Given the description of an element on the screen output the (x, y) to click on. 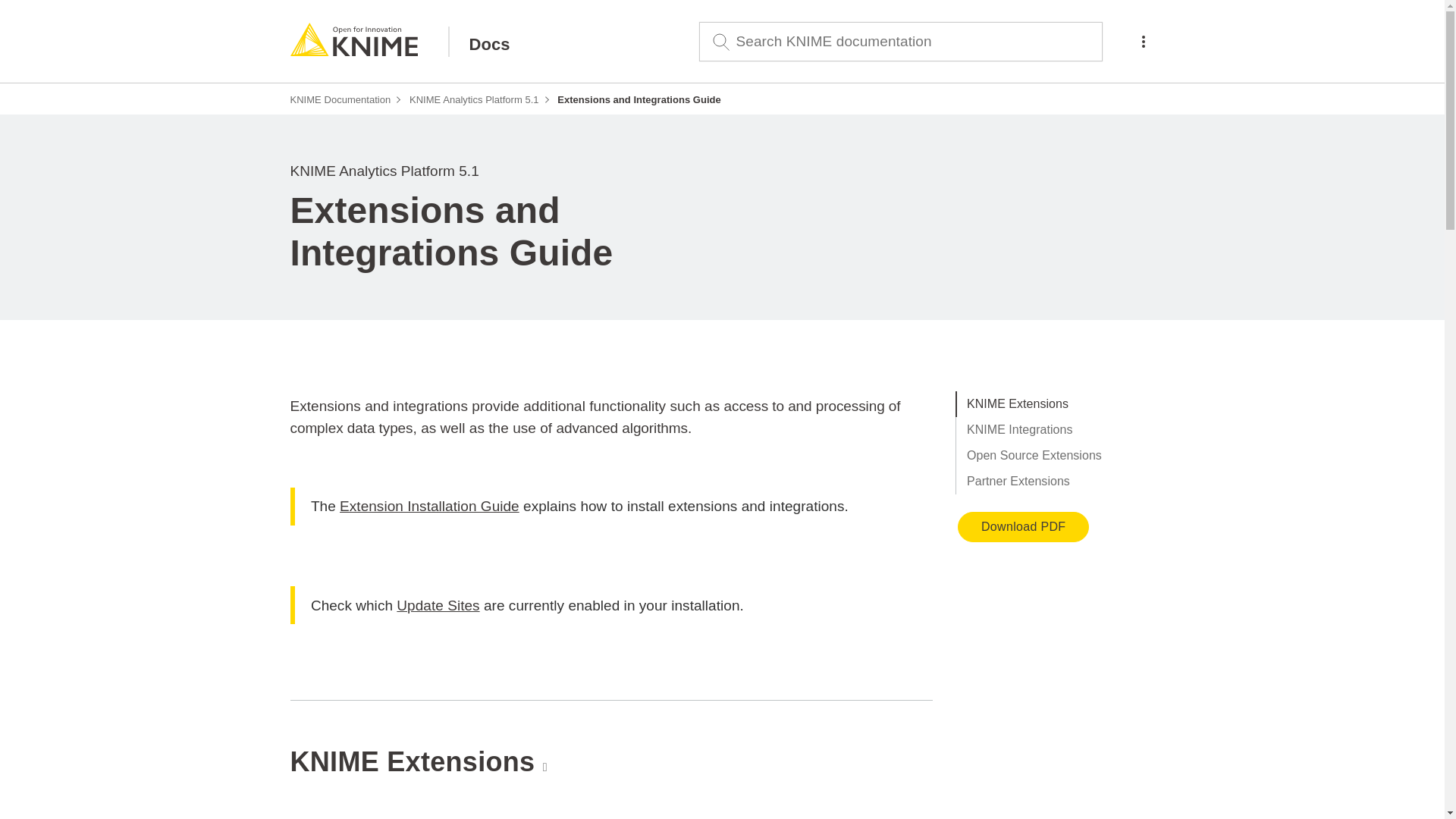
Extension Installation Guide (429, 505)
KNIME Extensions (1054, 403)
Update Sites (437, 605)
KNIME Analytics Platform 5.1 (473, 99)
Docs (478, 40)
Open Source Extensions (1054, 455)
KNIME Integrations (1054, 429)
Download PDF (1023, 526)
KNIME Documentation (339, 99)
Partner Extensions (1054, 481)
